Given the description of an element on the screen output the (x, y) to click on. 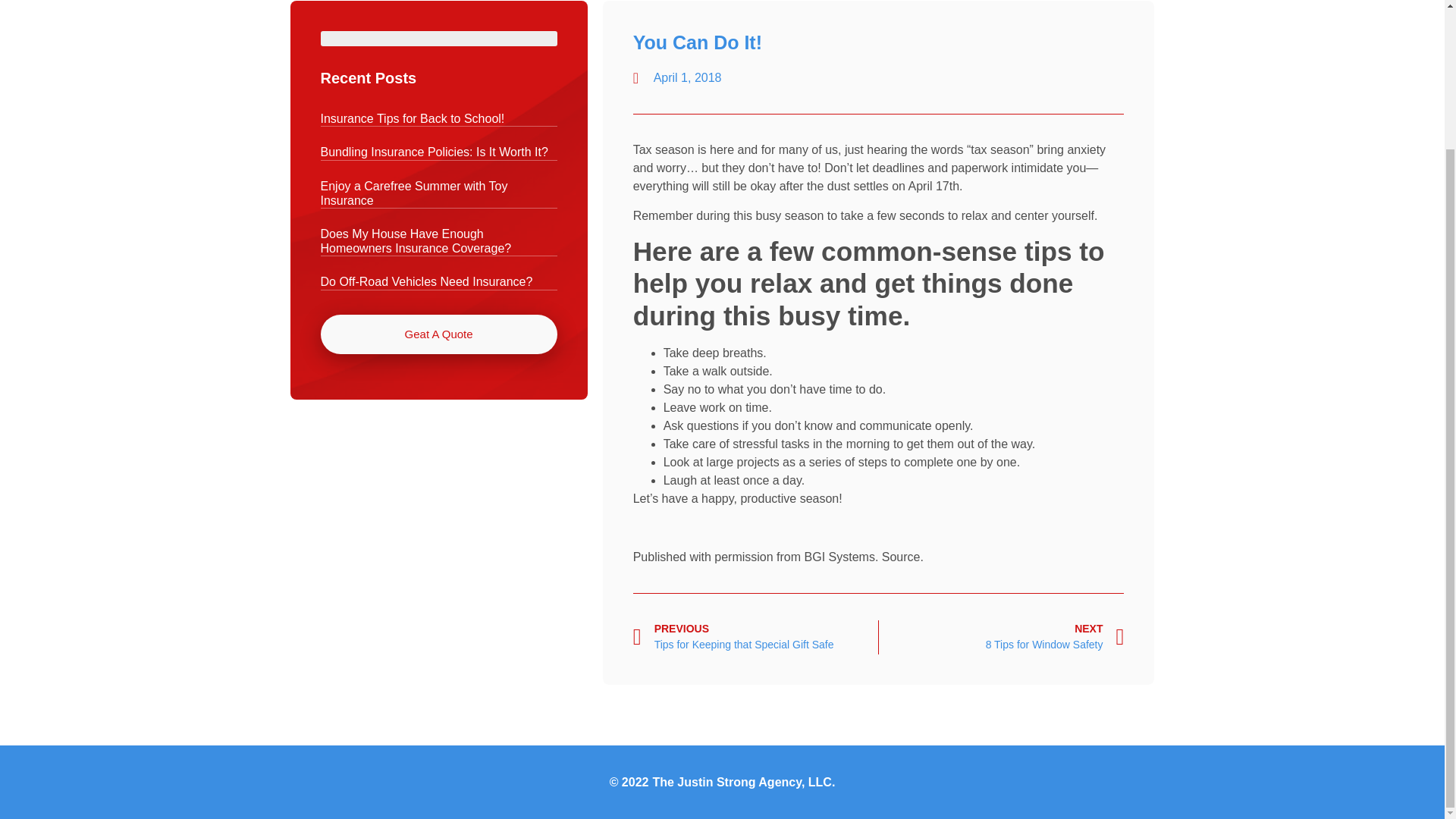
Bundling Insurance Policies: Is It Worth It? (433, 151)
Enjoy a Carefree Summer with Toy Insurance (413, 193)
Does My House Have Enough Homeowners Insurance Coverage? (415, 240)
Insurance Tips for Back to School! (411, 118)
Do Off-Road Vehicles Need Insurance? (426, 281)
